Given the description of an element on the screen output the (x, y) to click on. 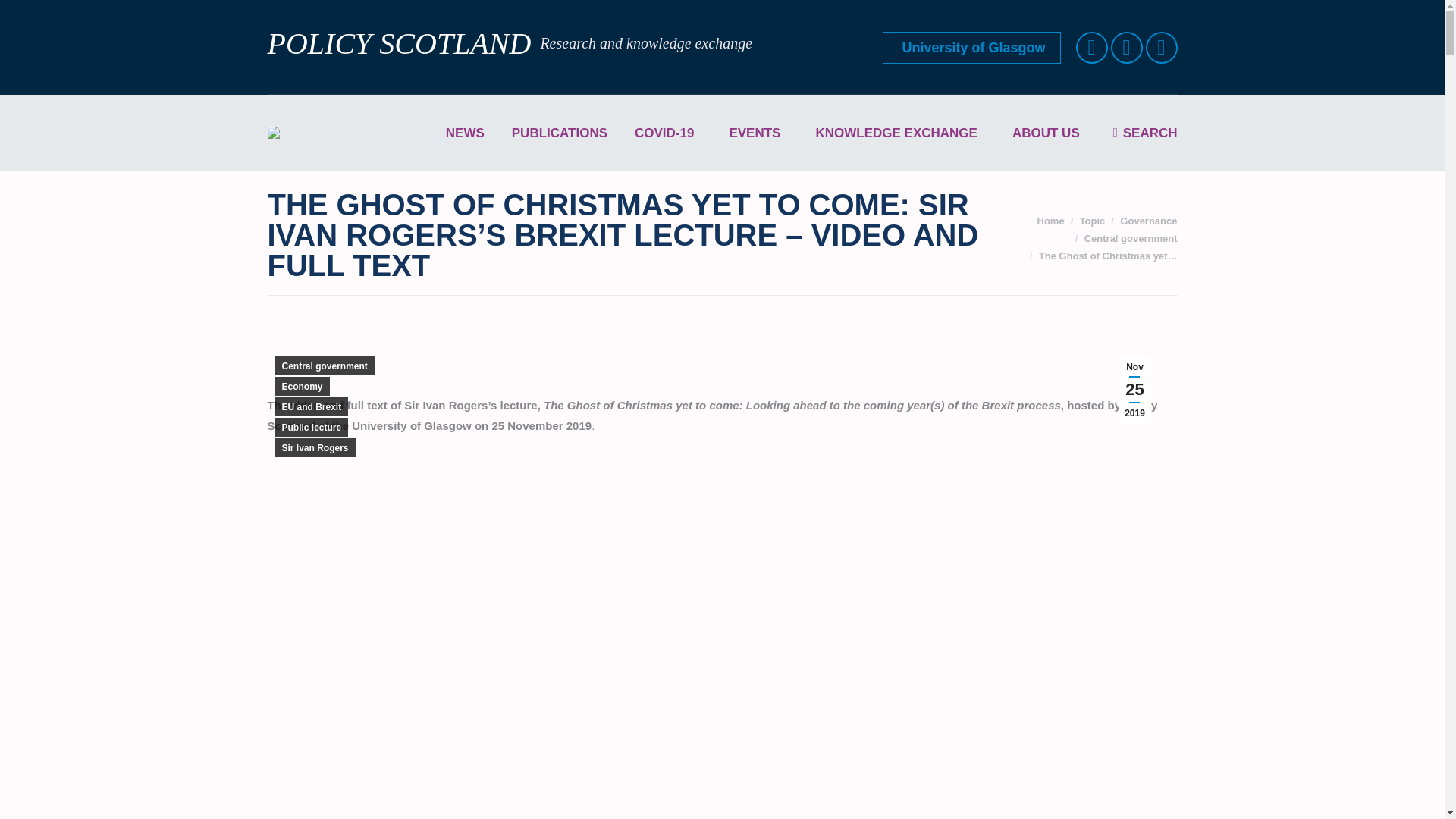
SEARCH (1145, 132)
NEWS (464, 132)
Go! (24, 16)
ABOUT US (1049, 132)
COVID-19 (667, 132)
EVENTS (757, 132)
Linkedin page opens in new window (1161, 47)
University of Glasgow (970, 47)
Home (1050, 220)
PUBLICATIONS (559, 132)
